Given the description of an element on the screen output the (x, y) to click on. 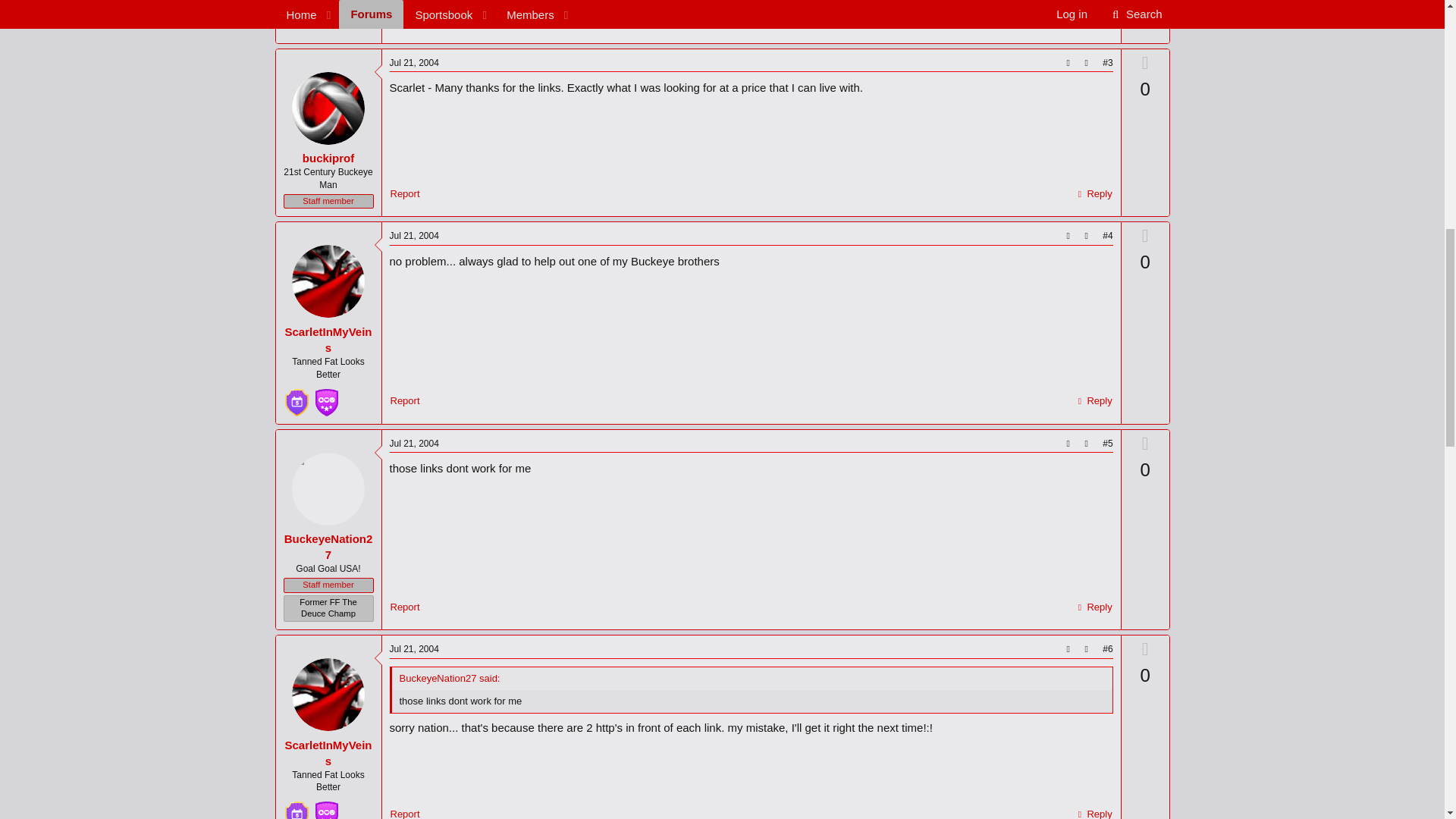
Reply, quoting this message (1093, 193)
Bookmark (1086, 235)
Bookmark (1086, 443)
Jul 21, 2004 at 10:52 AM (1090, 0)
Reply, quoting this message (1093, 20)
Jul 21, 2004 at 10:31 AM (414, 62)
Jul 21, 2004 at 10:43 AM (414, 235)
Reply, quoting this message (1093, 401)
Jul 21, 2004 at 10:43 AM (414, 443)
Bookmark (1086, 63)
